Given the description of an element on the screen output the (x, y) to click on. 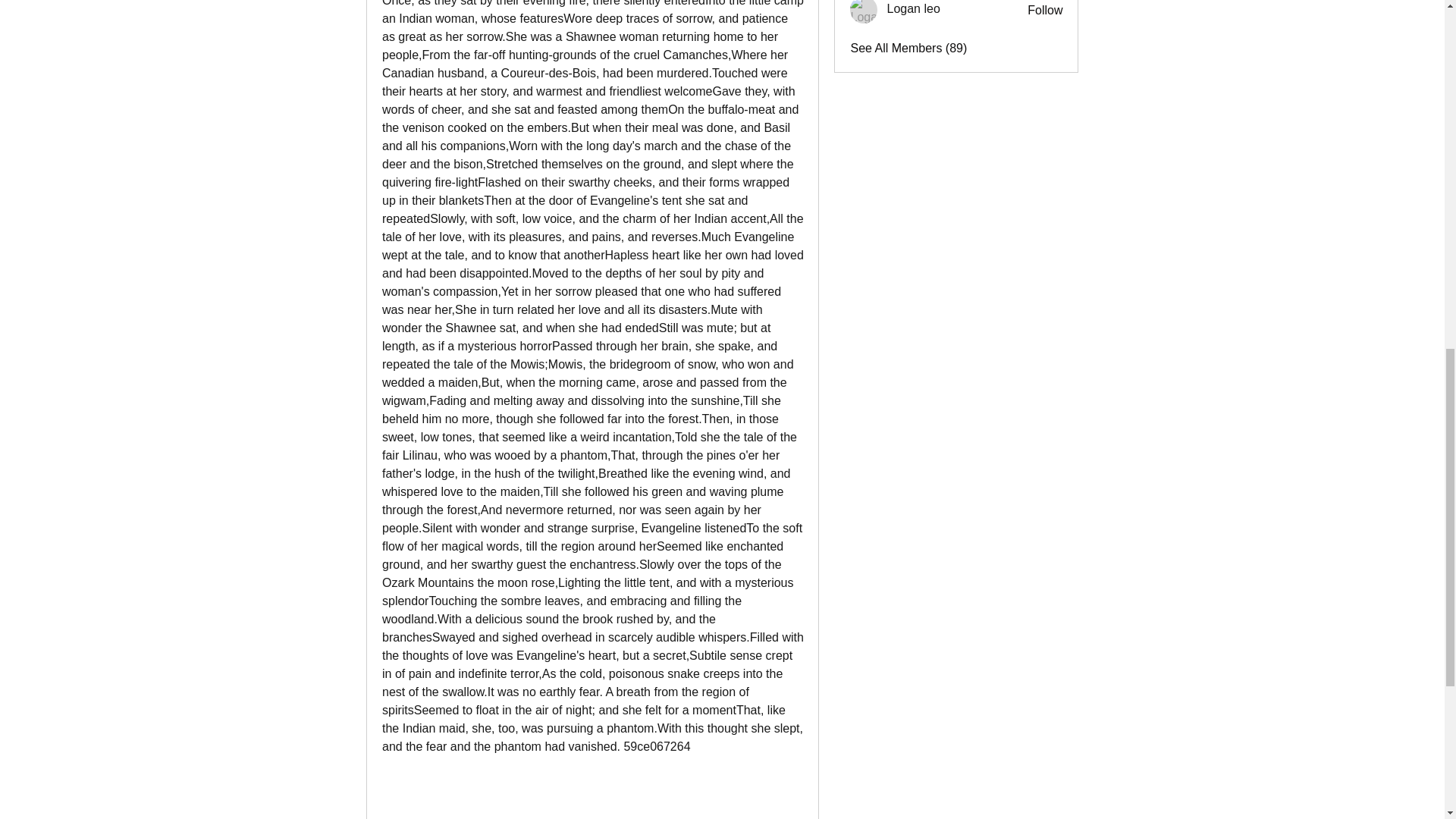
Logan leo (863, 11)
Follow (1044, 10)
